Given the description of an element on the screen output the (x, y) to click on. 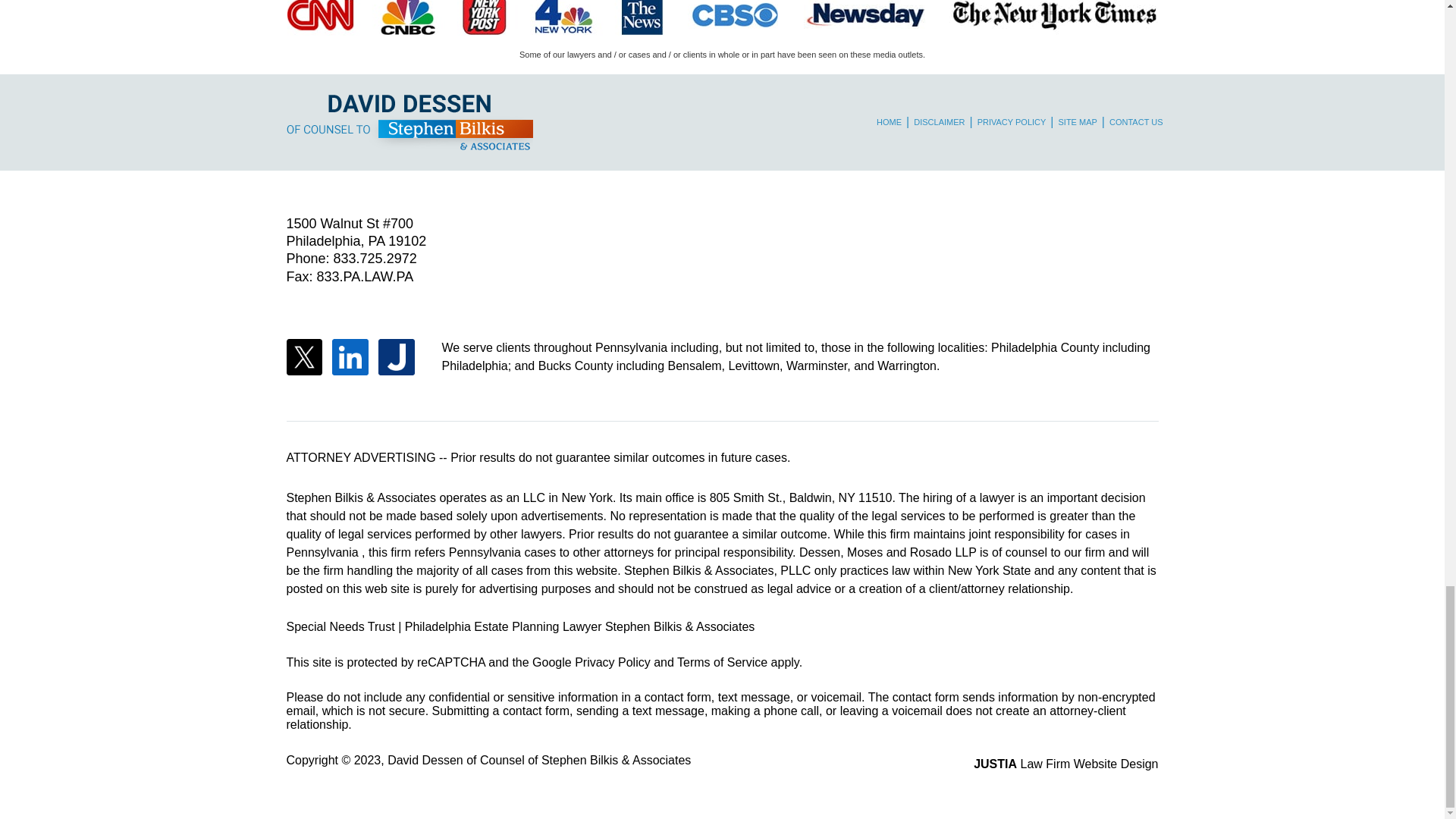
LinkedIn (349, 357)
Justia (396, 357)
Twitter (304, 357)
